Given the description of an element on the screen output the (x, y) to click on. 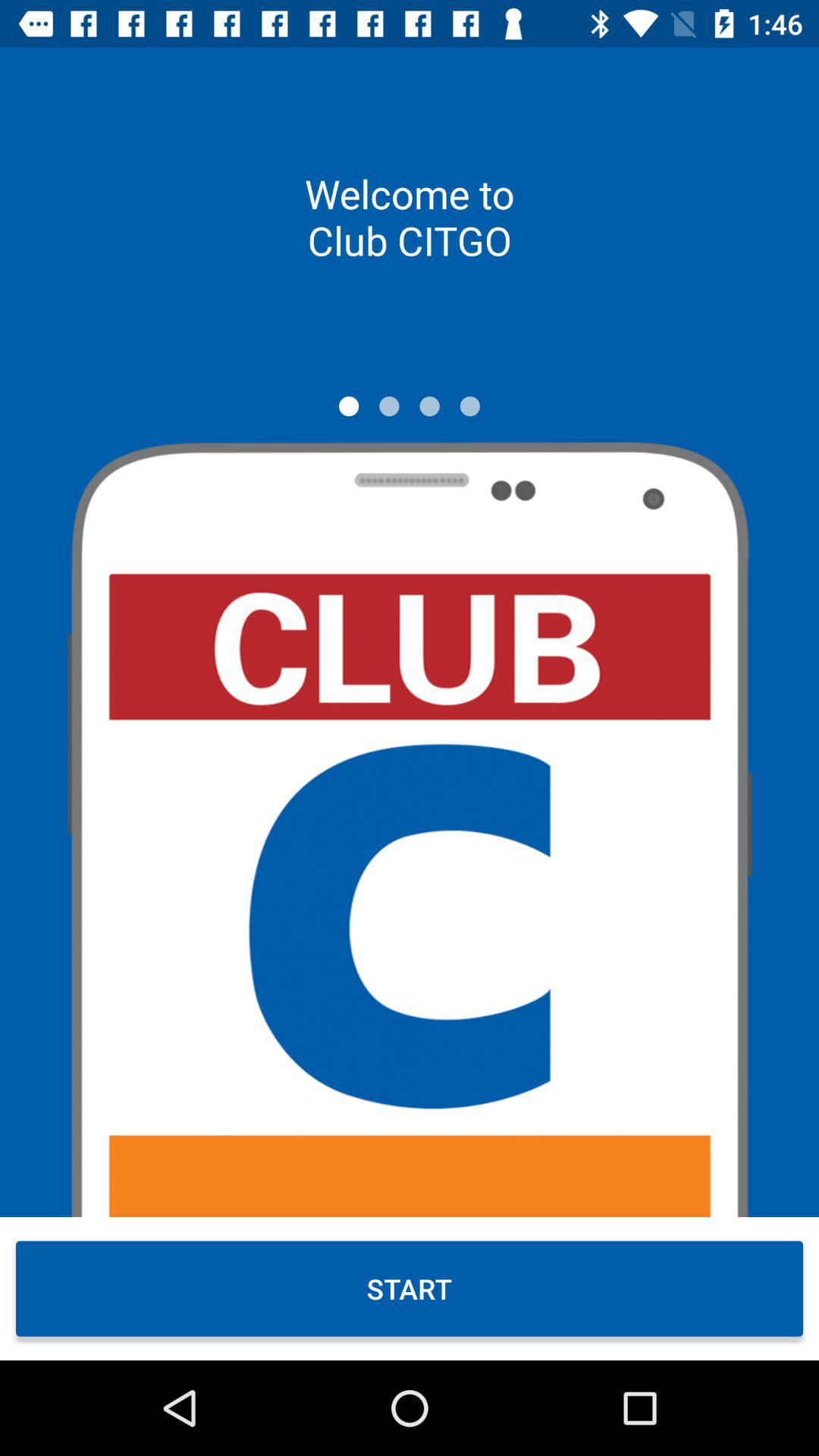
click icon below welcome to club item (389, 406)
